Given the description of an element on the screen output the (x, y) to click on. 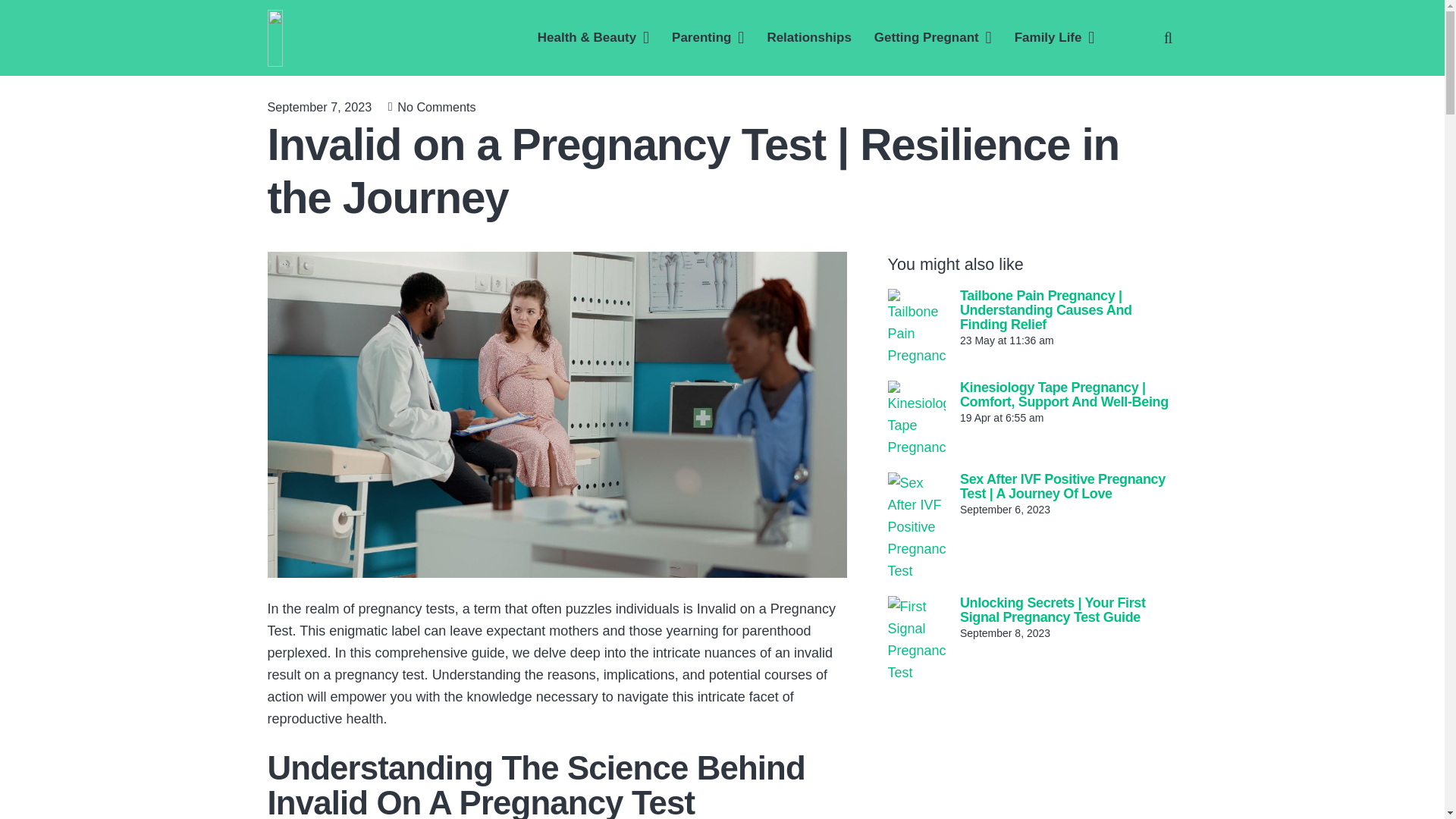
Family Life (1054, 37)
Getting Pregnant (933, 37)
Parenting (708, 37)
Relationships (808, 37)
No Comments (436, 106)
No Comments (436, 106)
